Given the description of an element on the screen output the (x, y) to click on. 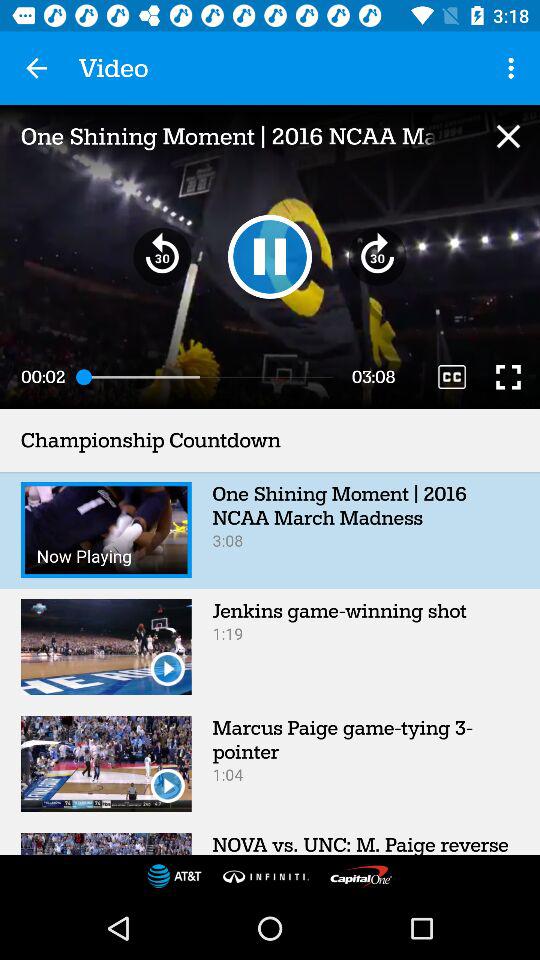
pause video (269, 256)
